Given the description of an element on the screen output the (x, y) to click on. 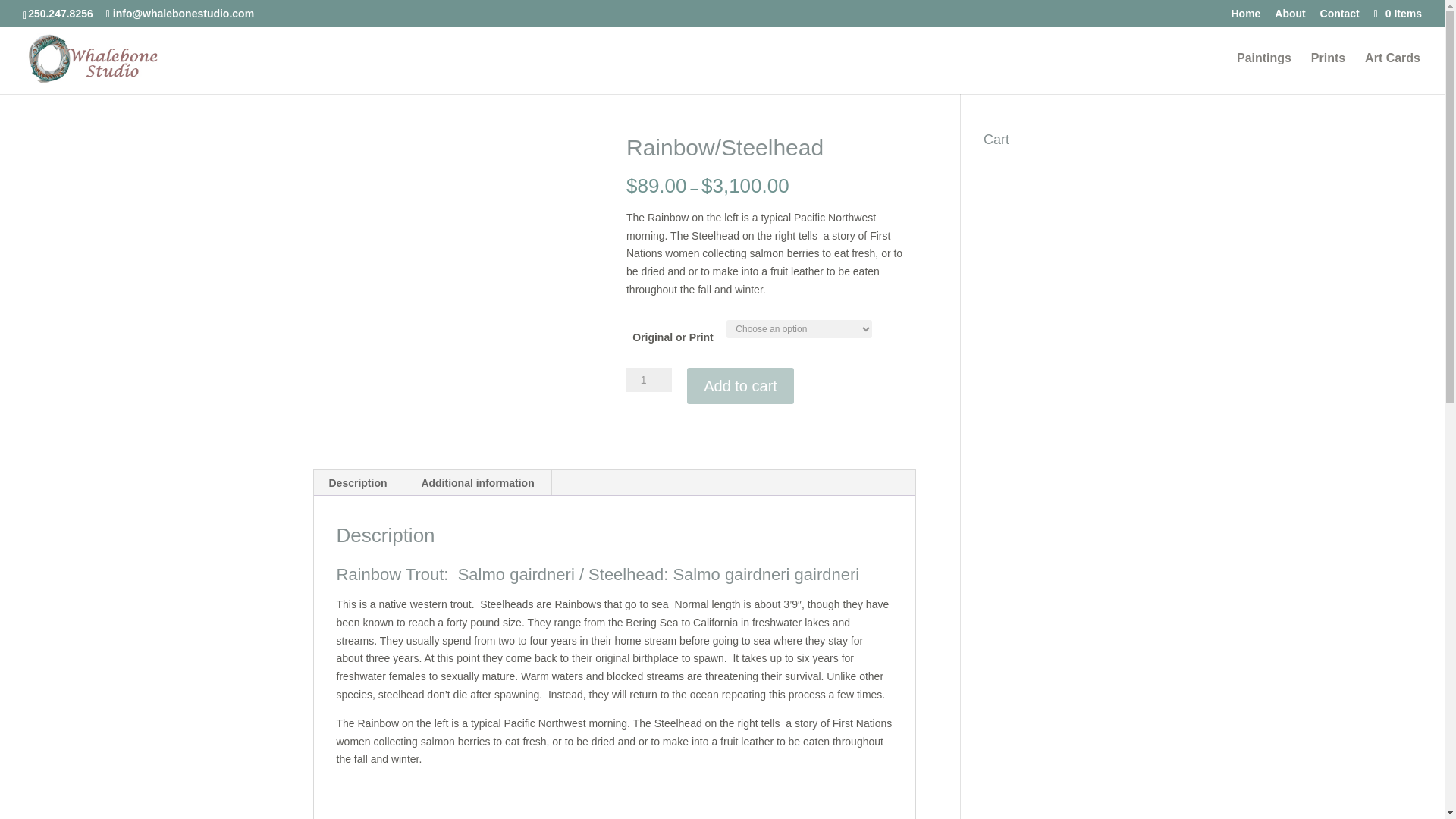
Additional information (477, 483)
About (1289, 16)
Contact (1339, 16)
Home (1245, 16)
Description (358, 483)
Art Cards (1393, 73)
0 Items (1396, 13)
Add to cart (740, 385)
1 (648, 379)
Paintings (1263, 73)
